Given the description of an element on the screen output the (x, y) to click on. 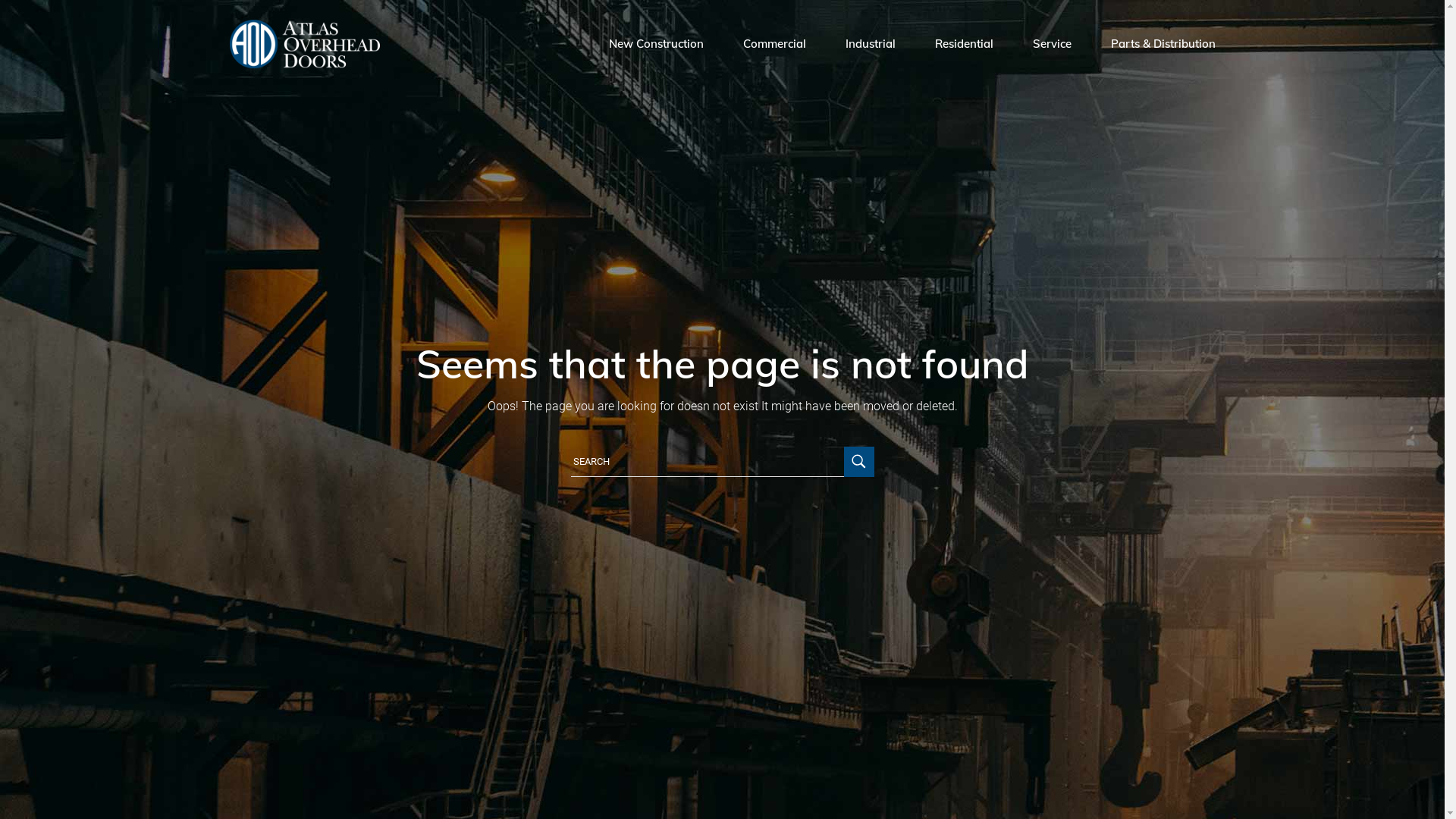
Industrial Element type: text (869, 43)
Parts & Distribution Element type: text (1162, 43)
Service Element type: text (1051, 43)
Commercial Element type: text (774, 43)
Residential Element type: text (963, 43)
New Construction Element type: text (655, 43)
